Given the description of an element on the screen output the (x, y) to click on. 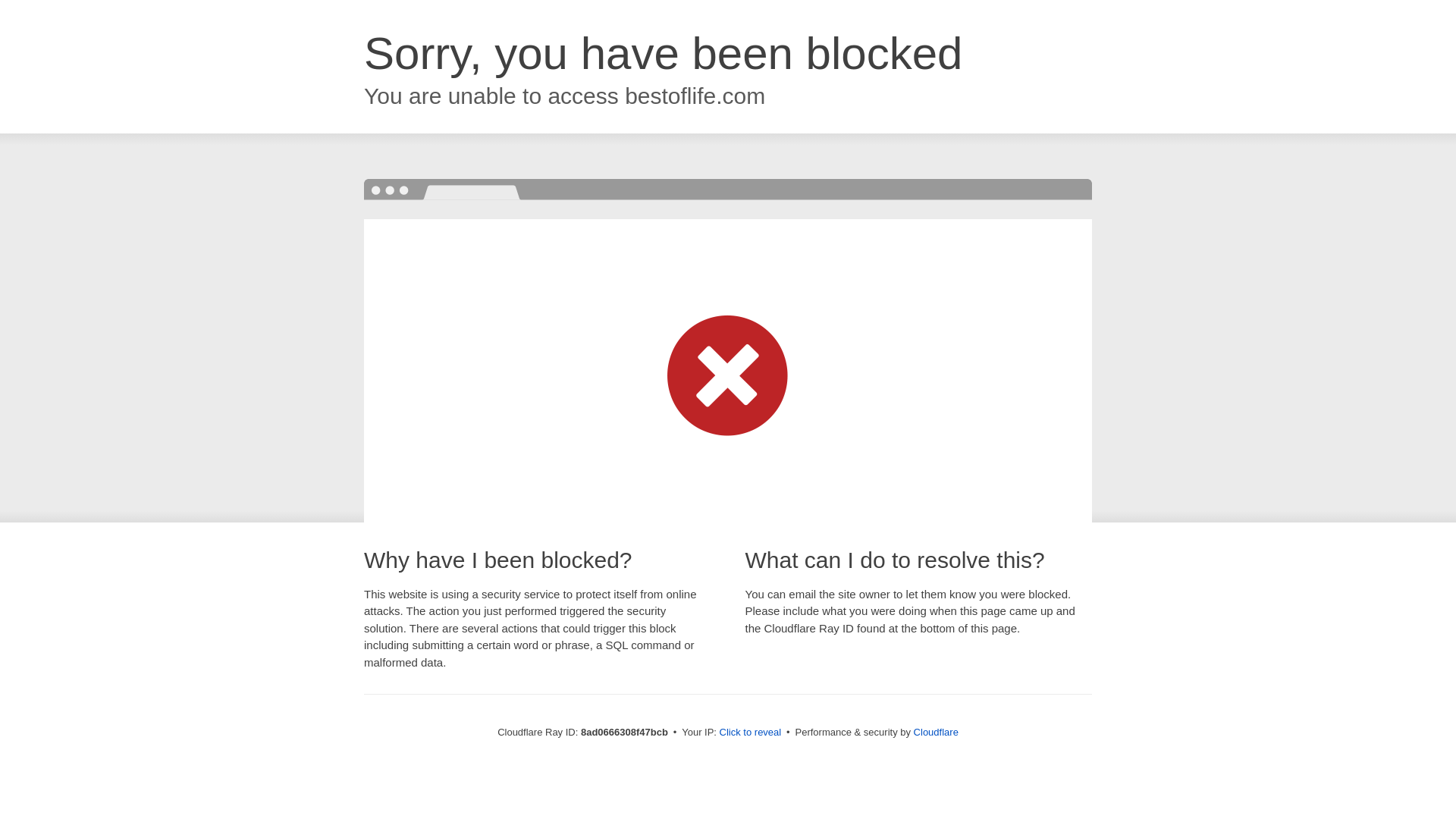
Click to reveal (750, 732)
Cloudflare (936, 731)
